Given the description of an element on the screen output the (x, y) to click on. 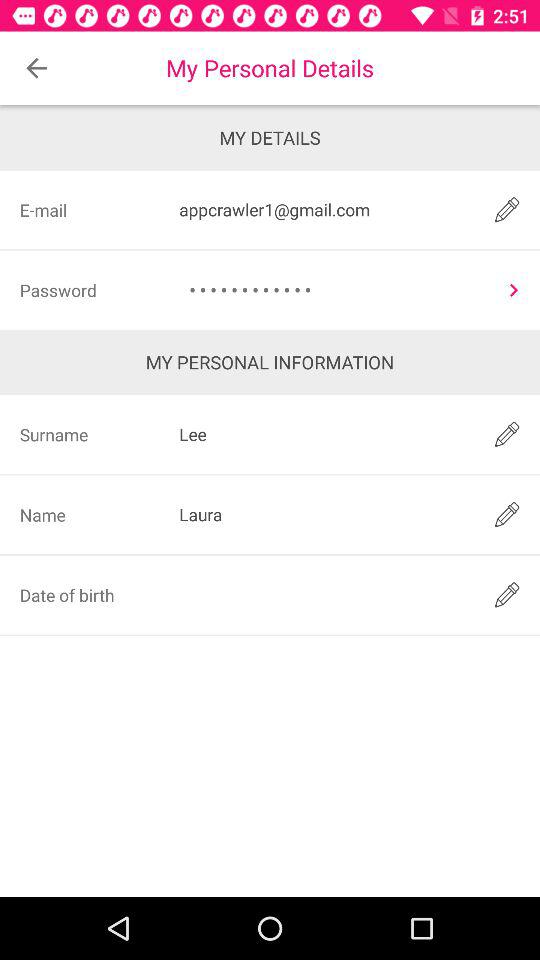
tap icon next to the my personal details (36, 68)
